Given the description of an element on the screen output the (x, y) to click on. 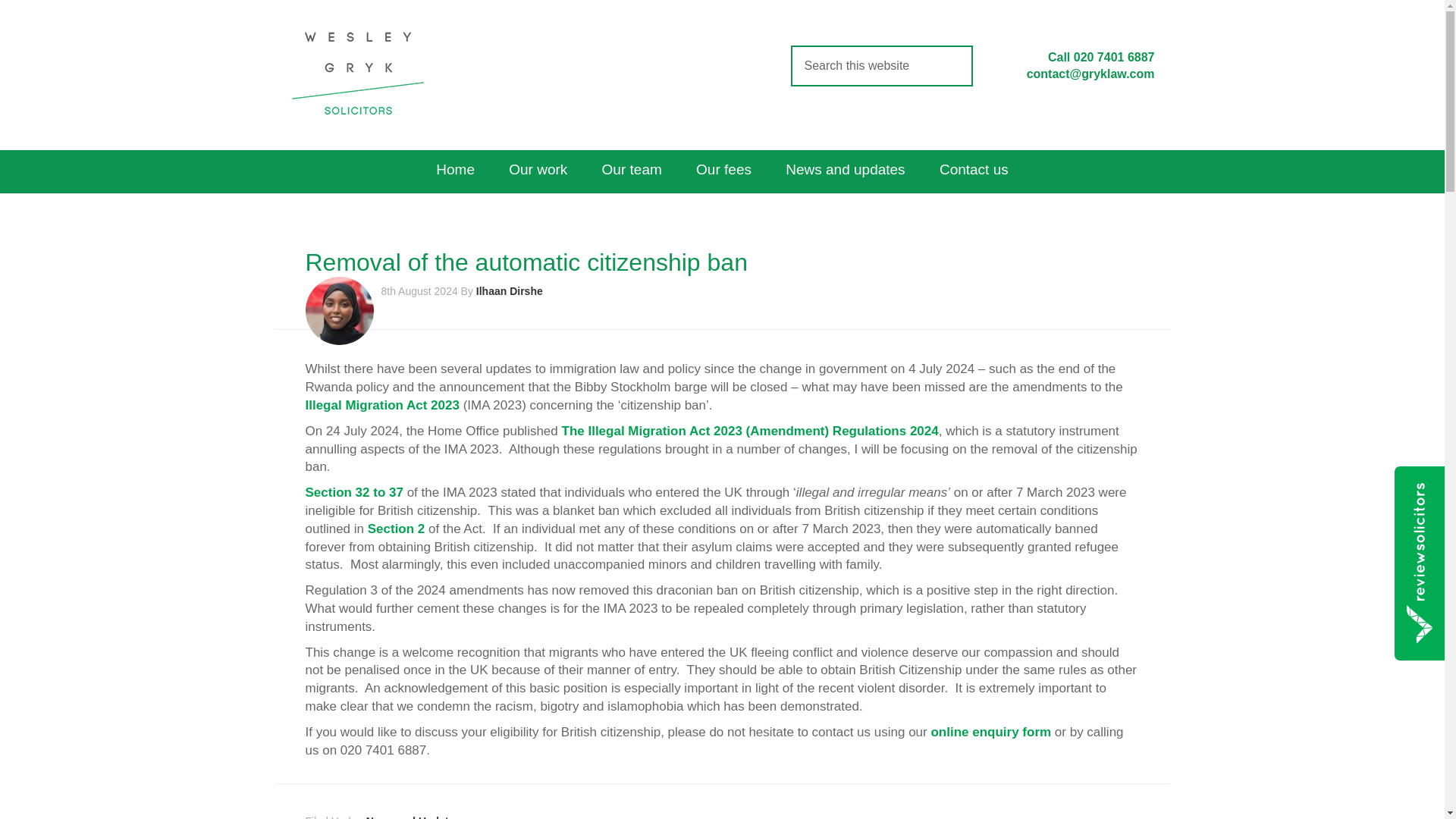
Contact us (973, 171)
News and Updates (413, 816)
News and updates (845, 171)
Our work (537, 171)
Removal of the automatic citizenship ban (525, 262)
Wesley Gryk Solicitors LLP (357, 73)
Our fees (724, 171)
online enquiry form (990, 731)
Our team (631, 171)
